Given the description of an element on the screen output the (x, y) to click on. 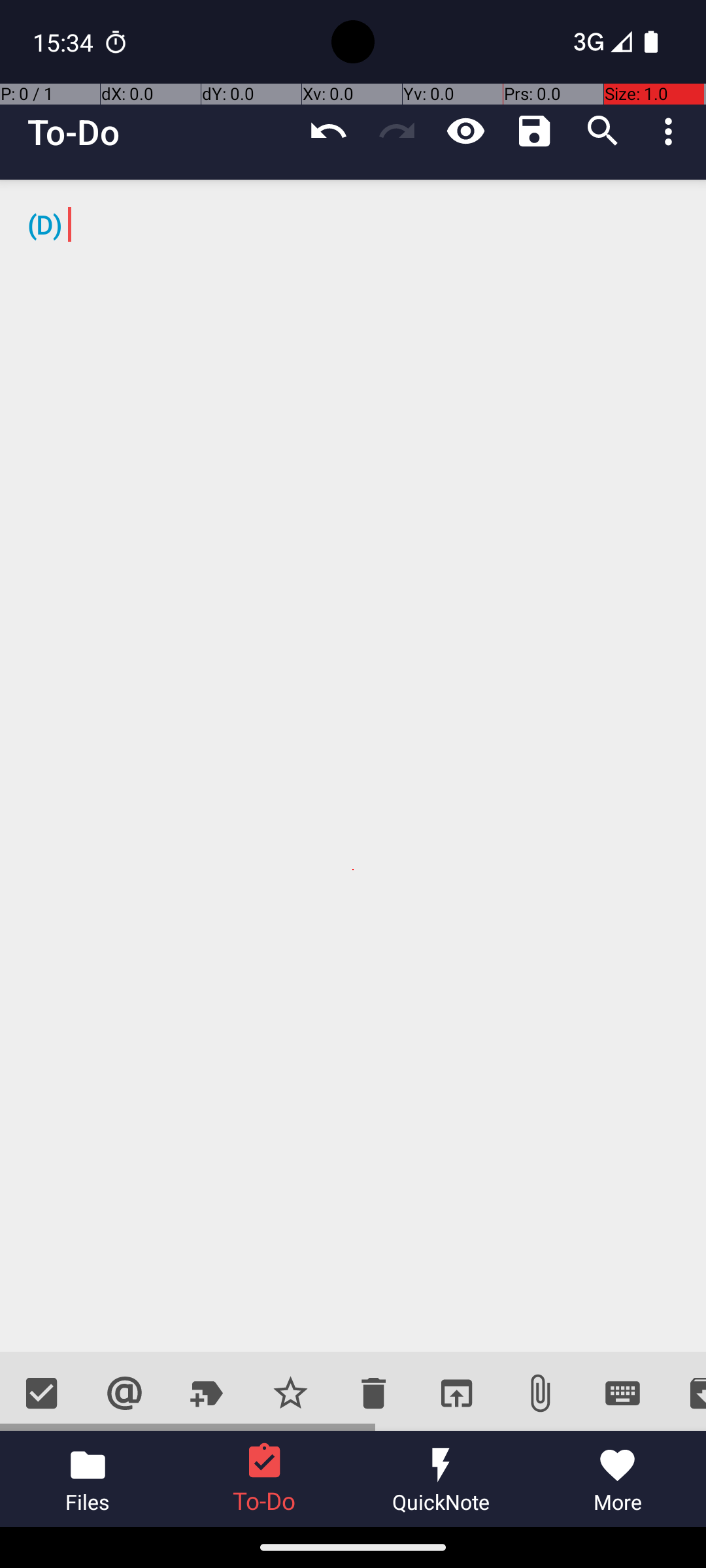
(D)  Element type: android.widget.EditText (353, 765)
